Given the description of an element on the screen output the (x, y) to click on. 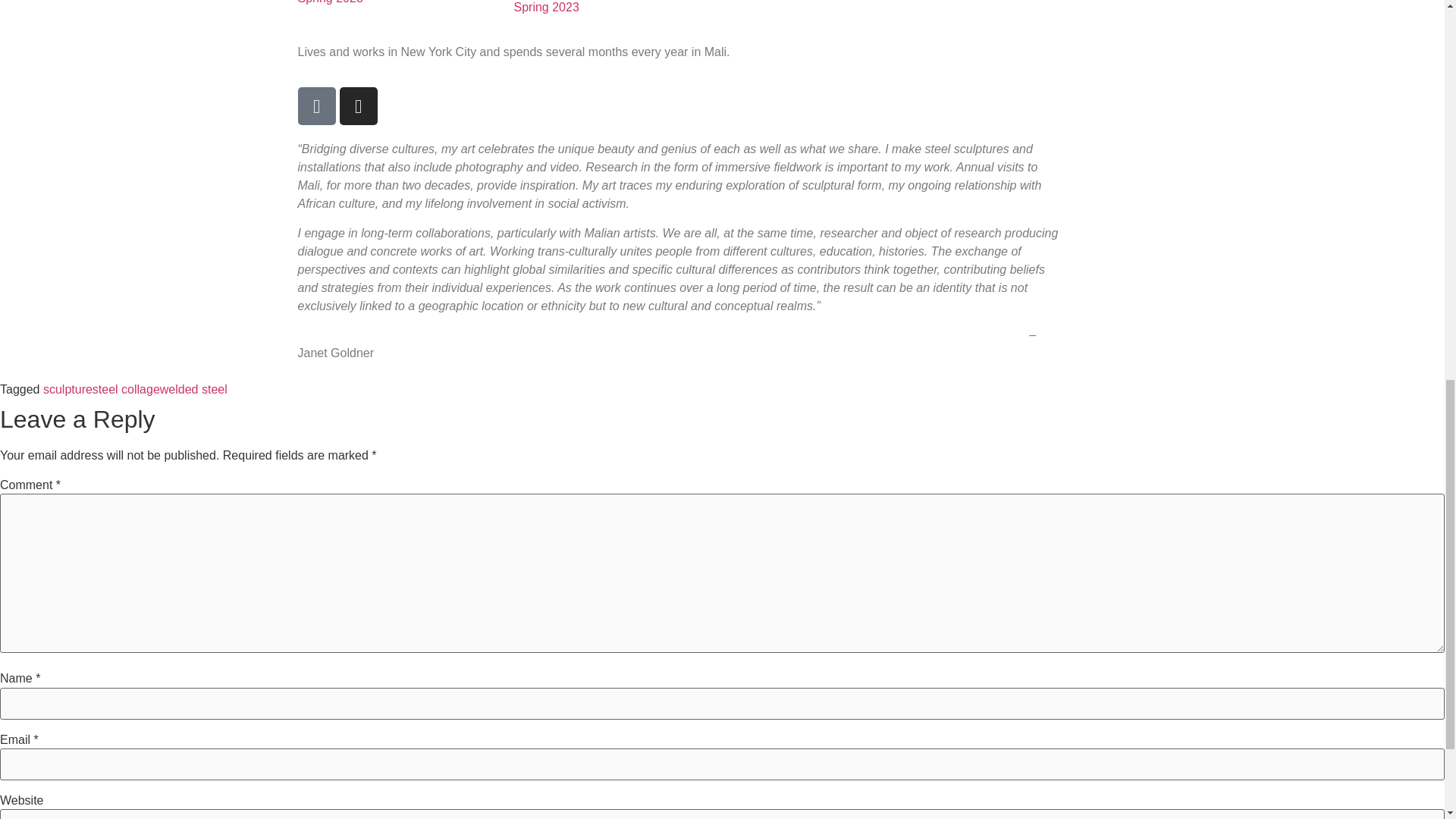
Spring 2023 (546, 6)
welded steel (193, 389)
steel collage (126, 389)
sculpture (68, 389)
Spring 2023 (329, 2)
